Given the description of an element on the screen output the (x, y) to click on. 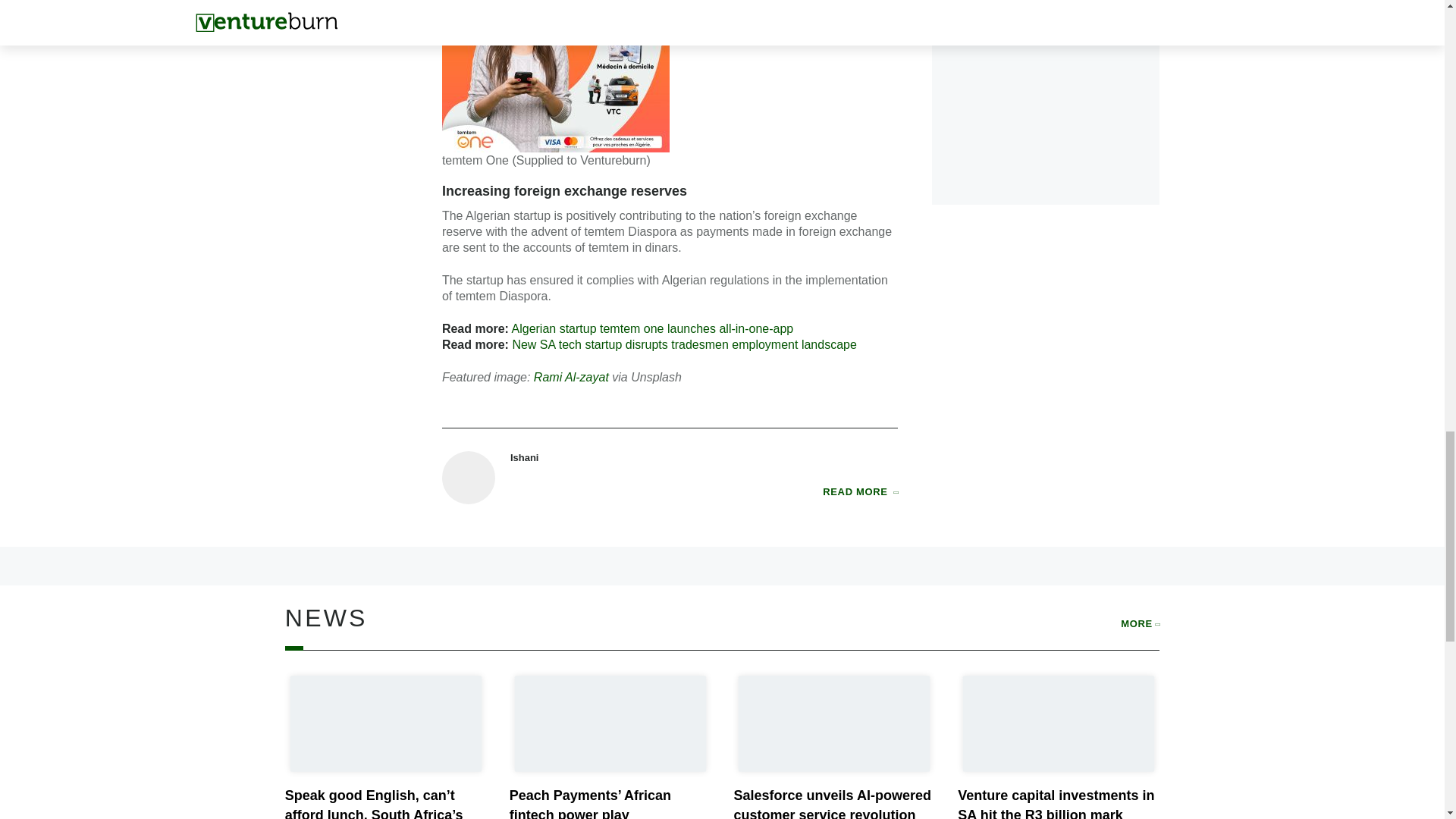
Venture capital investments in SA hit the R3 billion mark (1056, 803)
READ MORE (860, 492)
New SA tech startup disrupts tradesmen employment landscape (684, 344)
Salesforce unveils AI-powered customer service revolution (831, 803)
Algerian startup temtem one launches all-in-one-app (652, 328)
Rami Al-zayat (571, 377)
MORE (1139, 624)
